Given the description of an element on the screen output the (x, y) to click on. 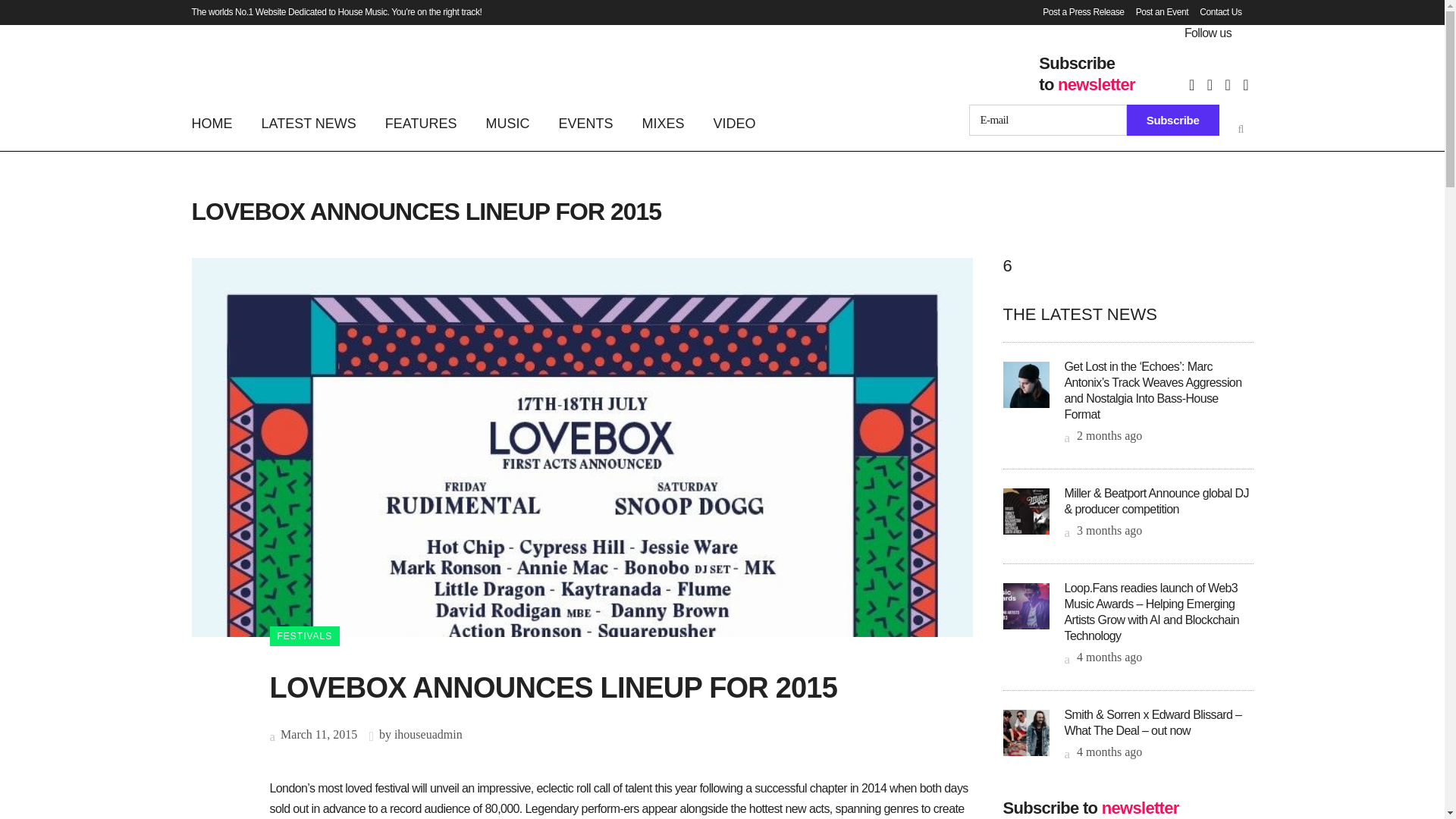
E-mail (1047, 119)
Post a Press Release (1077, 12)
Post an Event (1156, 12)
Contact Us (1214, 12)
HOME (218, 123)
LATEST NEWS (309, 123)
FEATURES (421, 123)
Subscribe (1173, 119)
